Given the description of an element on the screen output the (x, y) to click on. 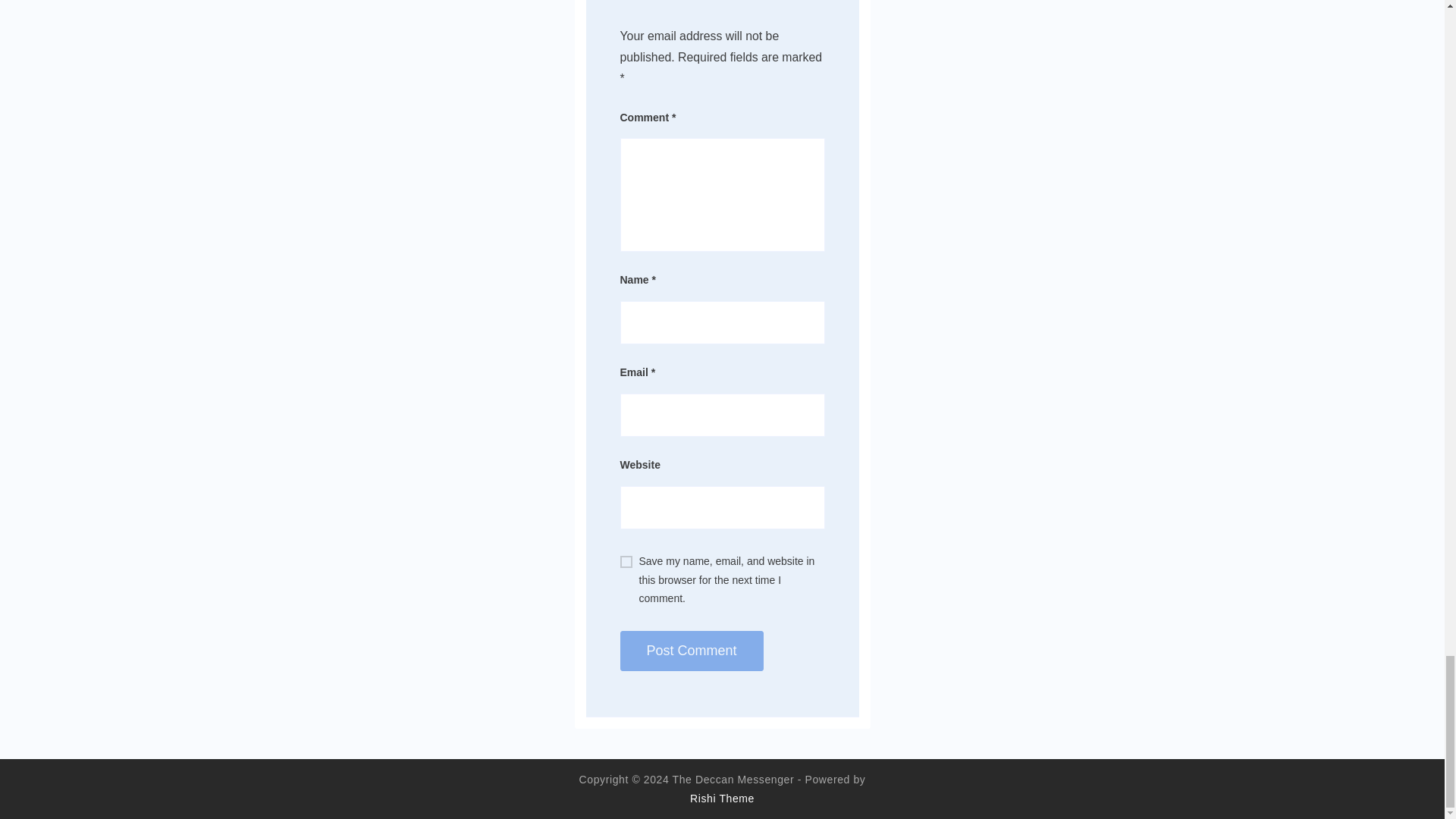
Post Comment (691, 650)
